Given the description of an element on the screen output the (x, y) to click on. 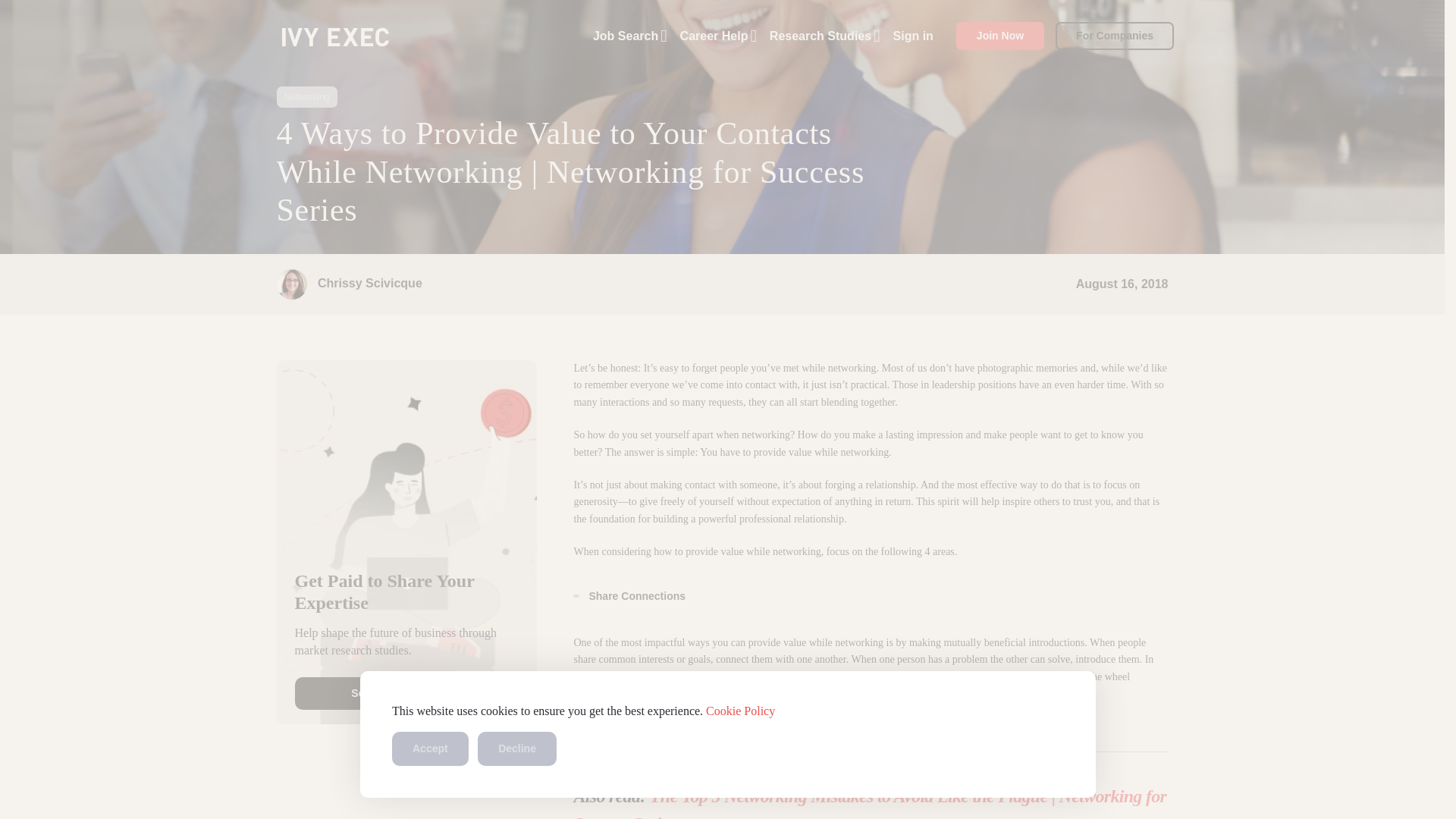
See Research Studies (406, 693)
Join Now (999, 35)
Career Help (718, 35)
Networking (306, 97)
Job Search (629, 35)
For Companies (1114, 35)
Sign in (913, 35)
Research Studies (825, 35)
